Given the description of an element on the screen output the (x, y) to click on. 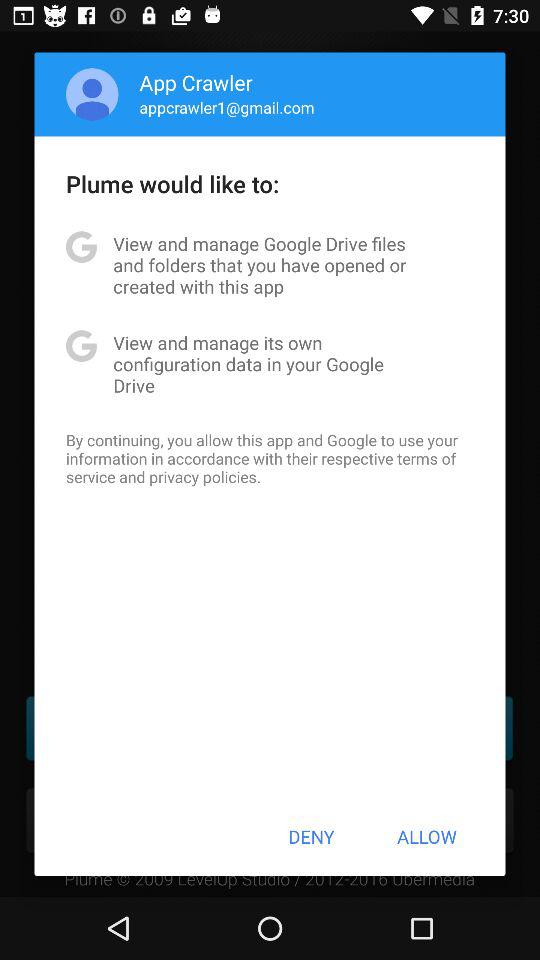
press item above the plume would like (226, 107)
